Given the description of an element on the screen output the (x, y) to click on. 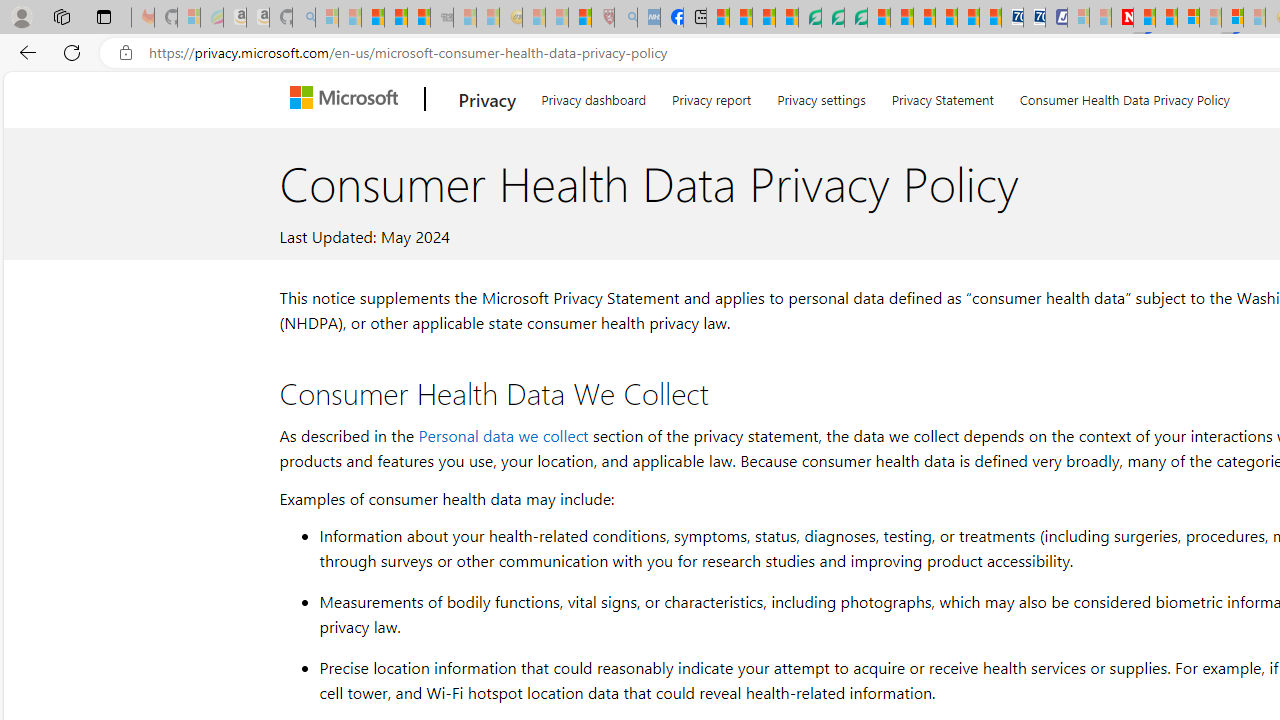
Latest Politics News & Archive | Newsweek.com (1122, 17)
Cheap Car Rentals - Save70.com (1012, 17)
Privacy settings (821, 96)
World - MSN (763, 17)
Microsoft (348, 99)
